Given the description of an element on the screen output the (x, y) to click on. 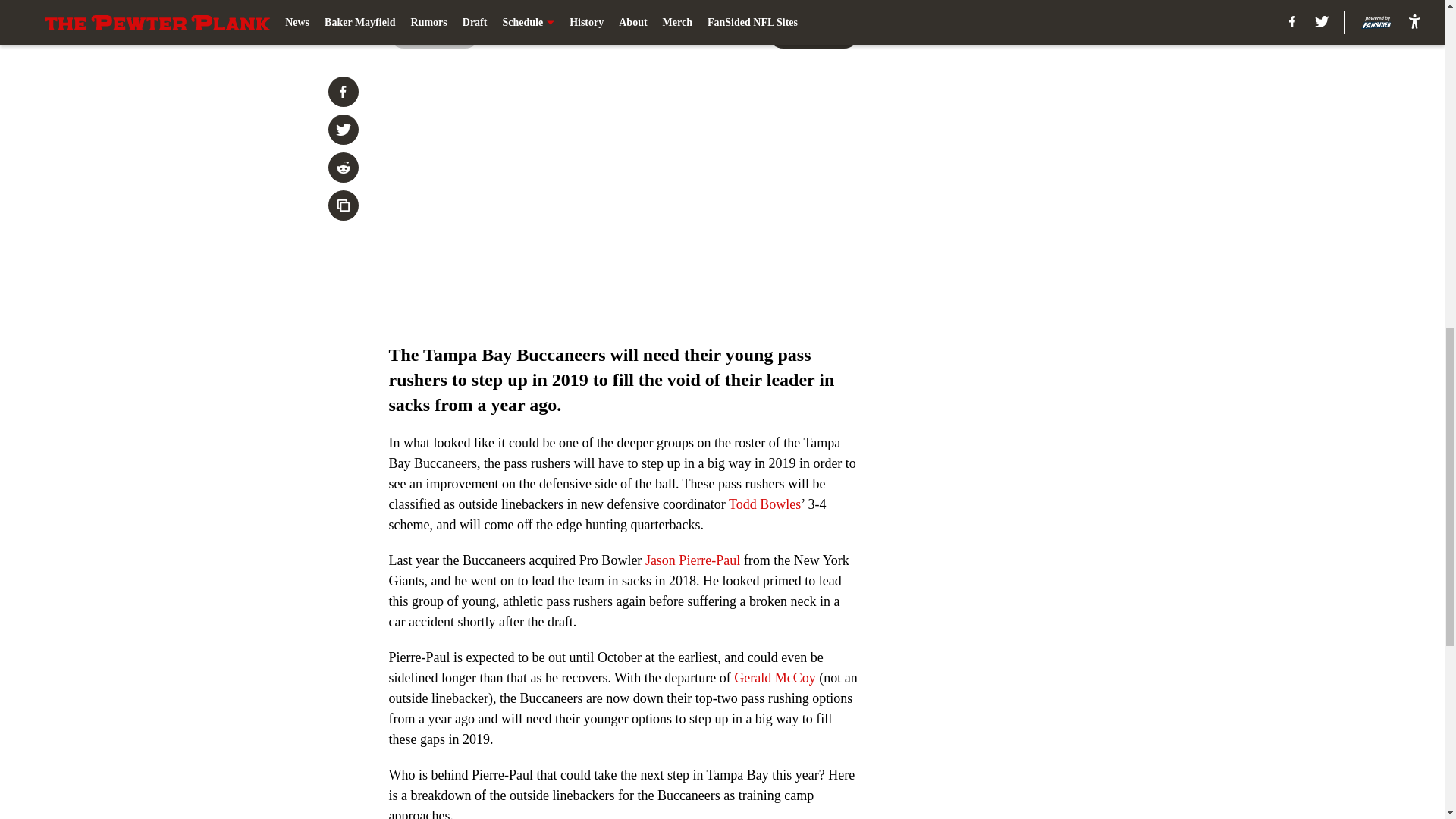
Prev (433, 33)
Next (813, 33)
Jason Pierre-Paul (692, 560)
Gerald McCoy (774, 677)
Todd Bowles (764, 503)
